Given the description of an element on the screen output the (x, y) to click on. 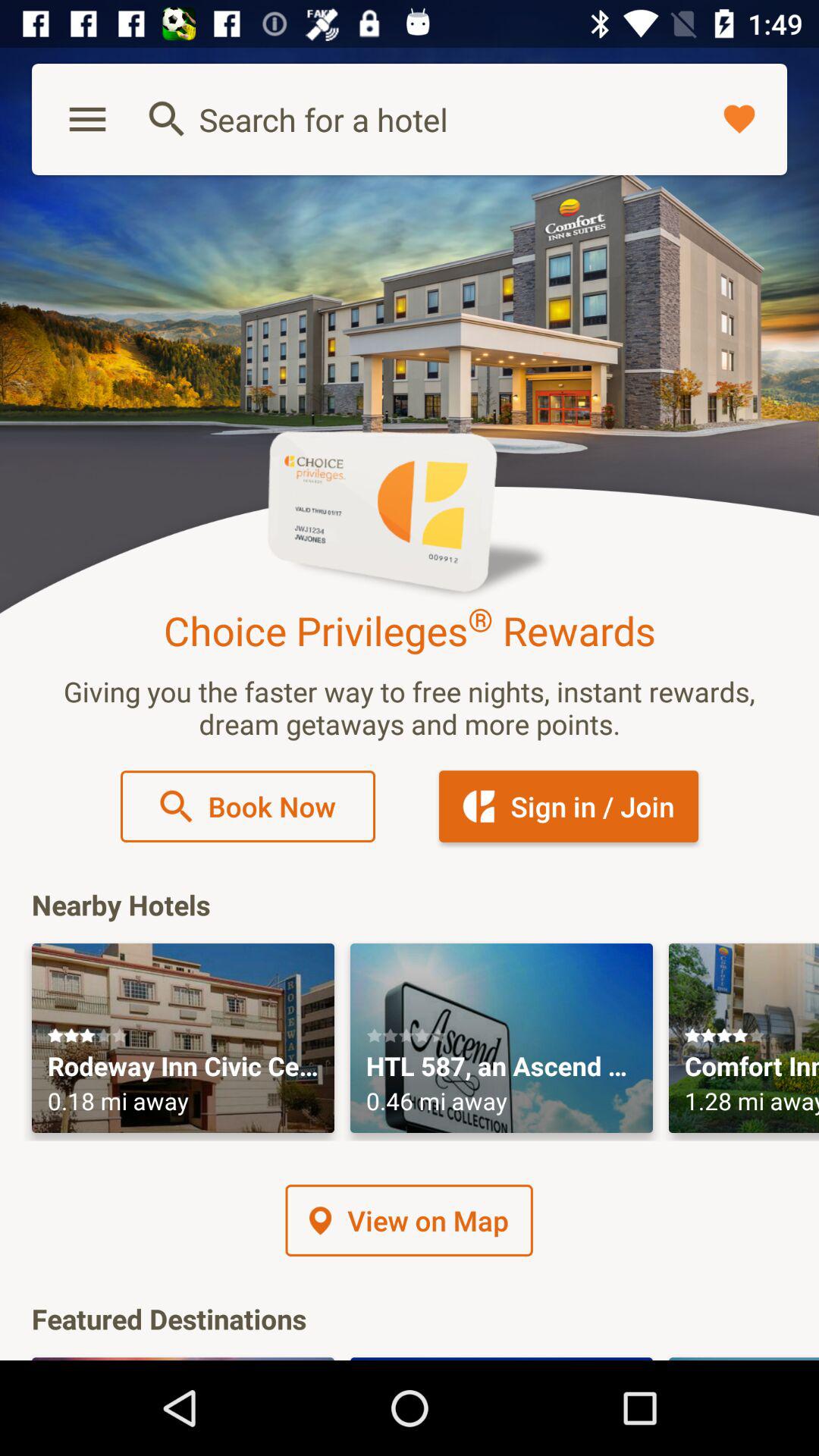
open this advertisement (182, 1037)
